Given the description of an element on the screen output the (x, y) to click on. 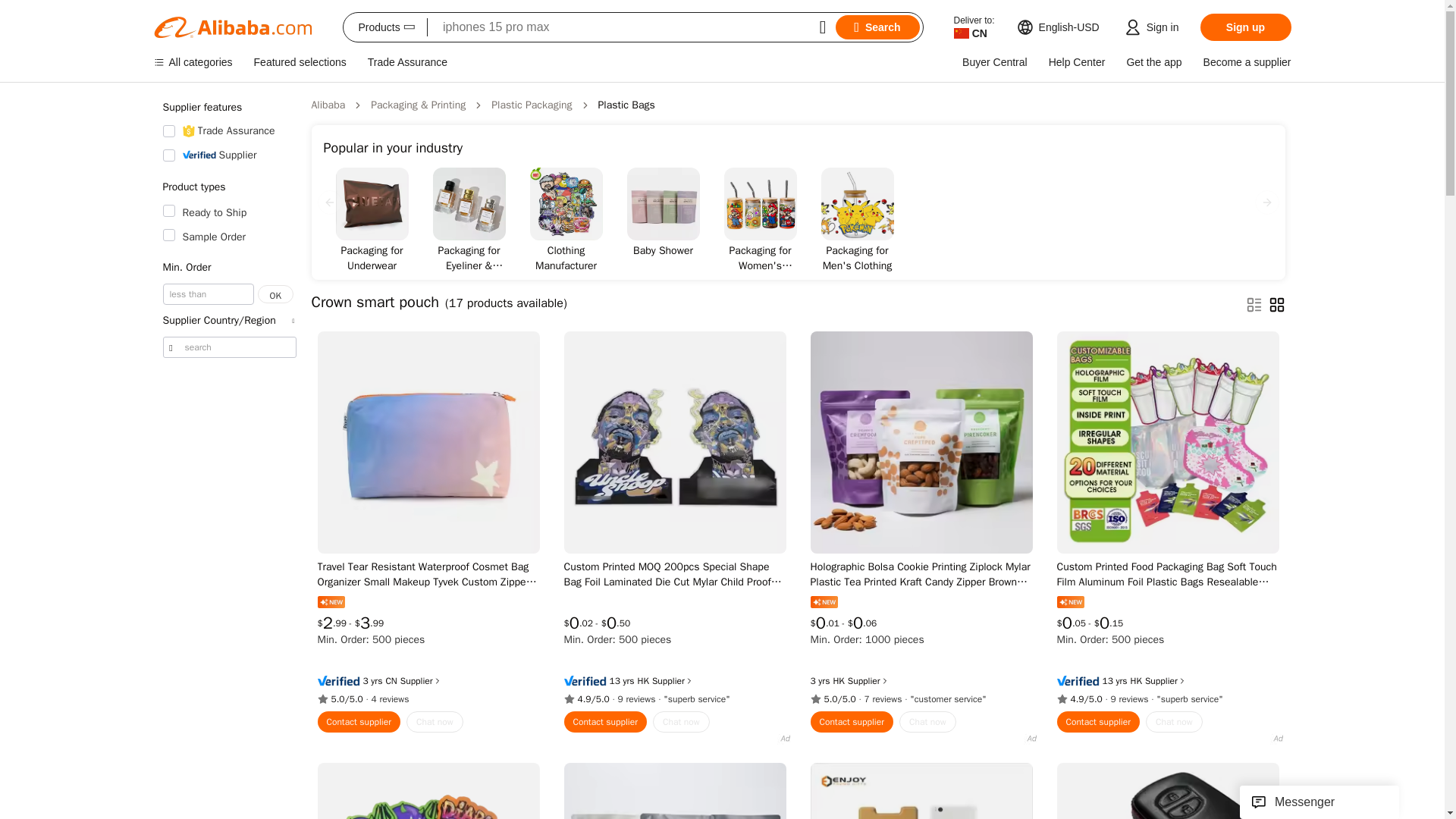
Product types (228, 187)
Supplier features (228, 107)
Min. Order (228, 267)
